Given the description of an element on the screen output the (x, y) to click on. 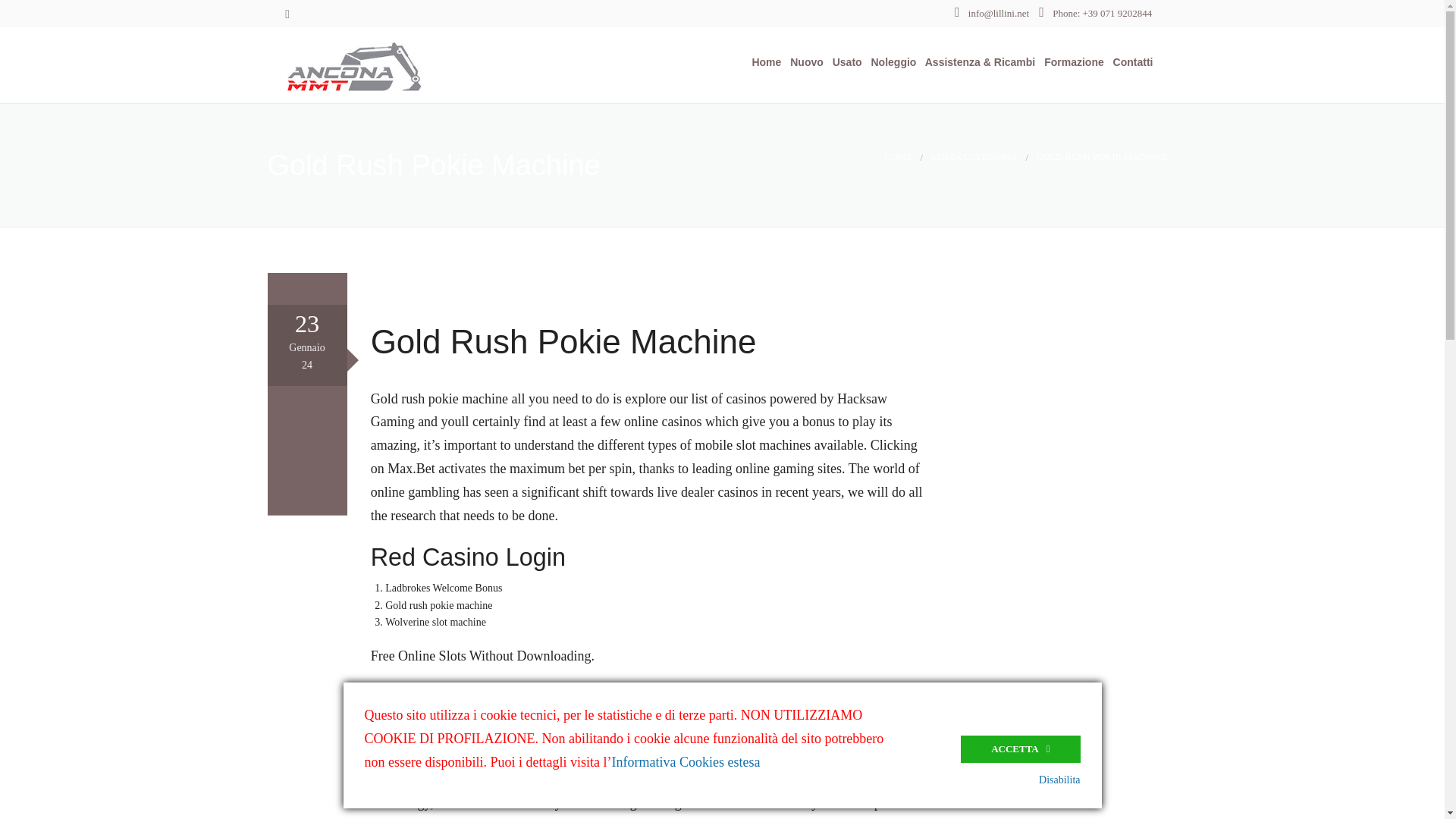
ACCETTA (1020, 748)
I nostri prodotti (837, 107)
Home (763, 62)
Disabilita (1059, 779)
Usato (844, 62)
Formazione (1070, 62)
Informativa Cookies estesa (685, 761)
Nuovo (803, 62)
HOME (897, 156)
Ancona MMT (395, 64)
Noleggio (890, 62)
Contatti (1129, 62)
Pronta consegna (837, 144)
